Given the description of an element on the screen output the (x, y) to click on. 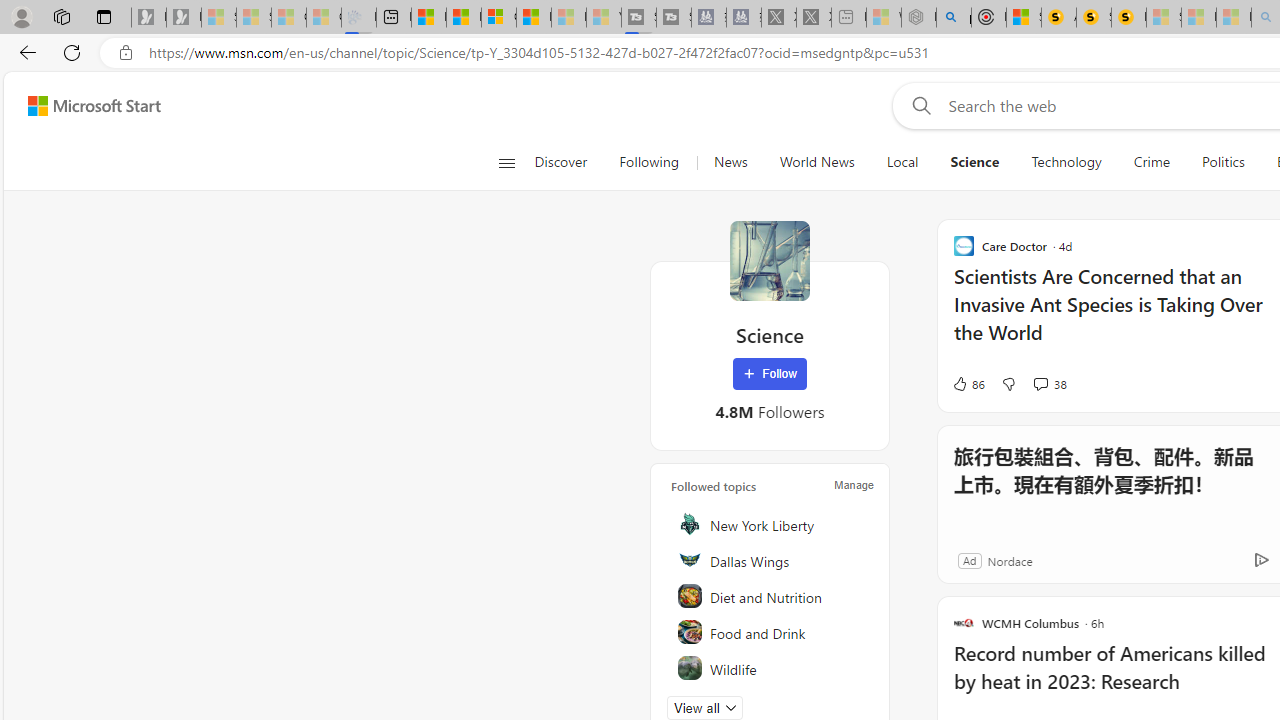
Technology (1066, 162)
Diet and Nutrition (771, 596)
New York Liberty (771, 524)
World News (817, 162)
Science (975, 162)
Follow (769, 373)
Newsletter Sign Up - Sleeping (183, 17)
86 Like (968, 384)
